Given the description of an element on the screen output the (x, y) to click on. 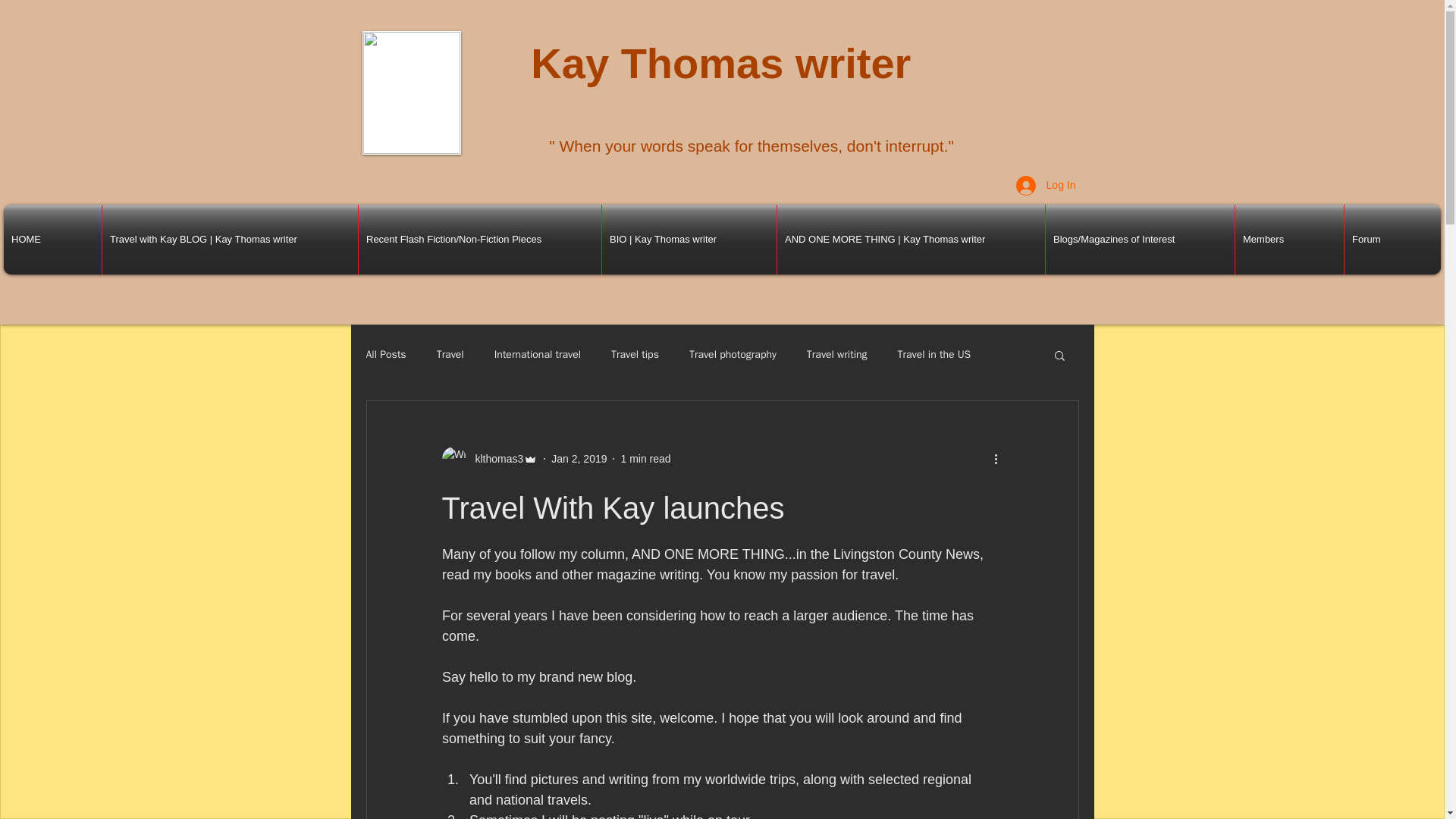
1 min read (644, 458)
HOME (52, 239)
Members (1288, 239)
Travel in the US (934, 354)
Travel writing (836, 354)
International travel (537, 354)
klthomas3 (489, 458)
Travel (450, 354)
Log In (1046, 185)
Travel tips (635, 354)
